Given the description of an element on the screen output the (x, y) to click on. 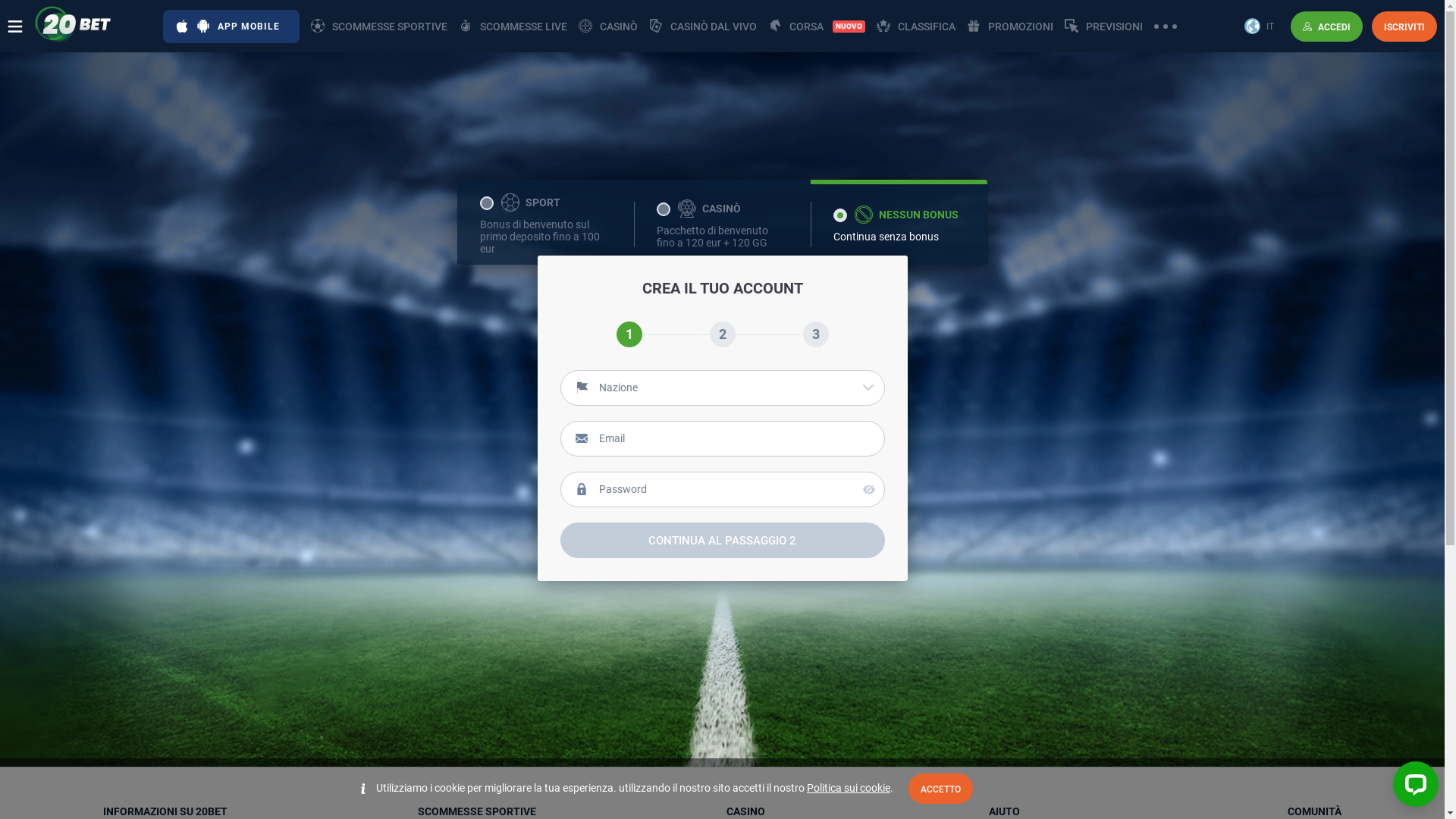
CLASSIFICA Element type: text (915, 26)
ACCEDI Element type: text (1326, 25)
APP MOBILE Element type: text (231, 25)
ACCETTO Element type: text (940, 788)
CORSA
NUOVO Element type: text (816, 26)
Politica sui cookie Element type: text (848, 787)
ISCRIVITI Element type: text (1404, 25)
CONTINUA AL PASSAGGIO 2 Element type: text (721, 539)
PROMOZIONI Element type: text (1009, 26)
SCOMMESSE LIVE Element type: text (512, 26)
SCOMMESSE SPORTIVE Element type: text (378, 26)
PREVISIONI Element type: text (1103, 26)
